Given the description of an element on the screen output the (x, y) to click on. 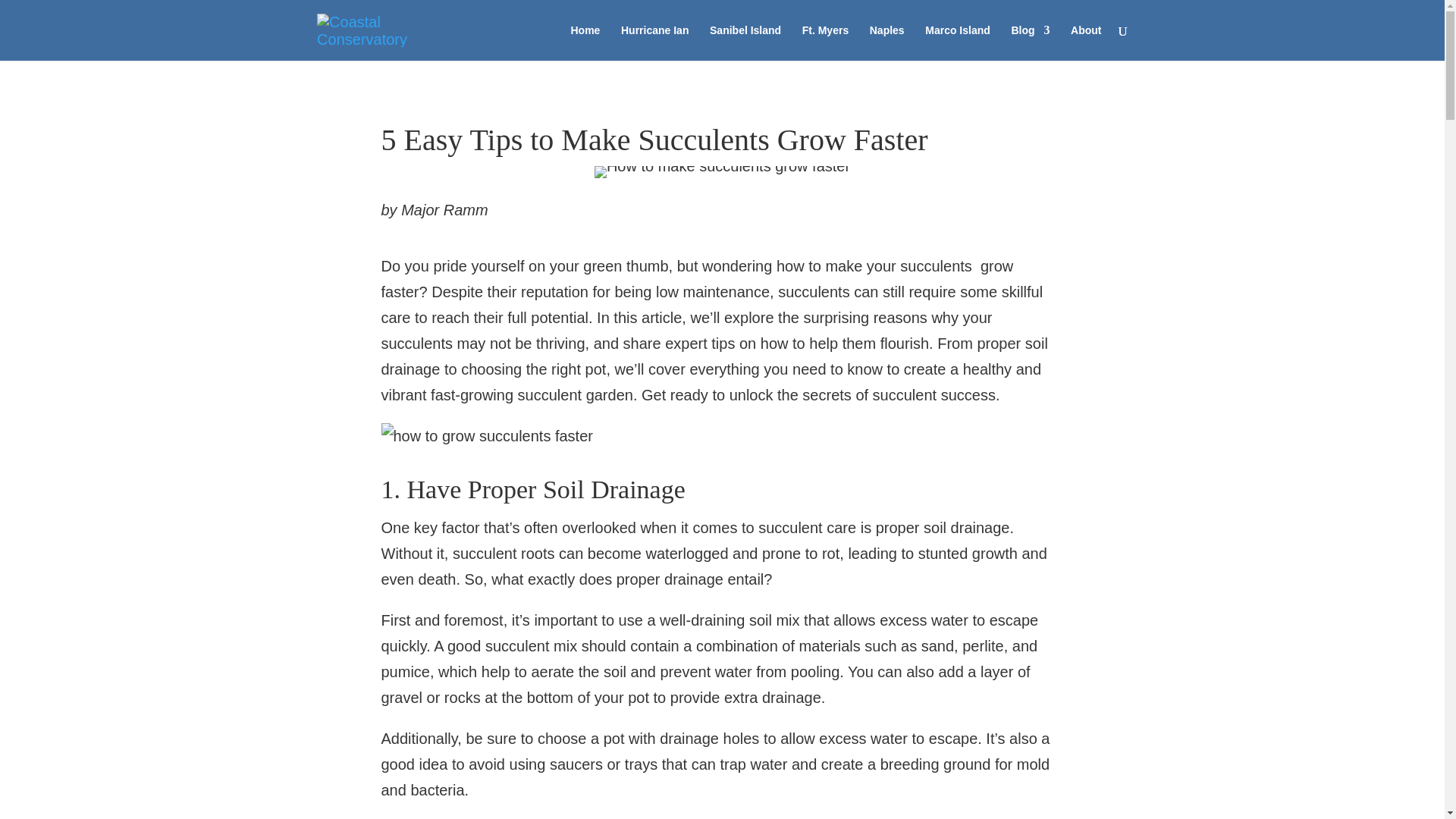
how to grow succulents faster (486, 435)
Ft. Myers (825, 42)
Sanibel Island (745, 42)
Blog (1029, 42)
Hurricane Ian (654, 42)
Marco Island (957, 42)
Naples (886, 42)
